Given the description of an element on the screen output the (x, y) to click on. 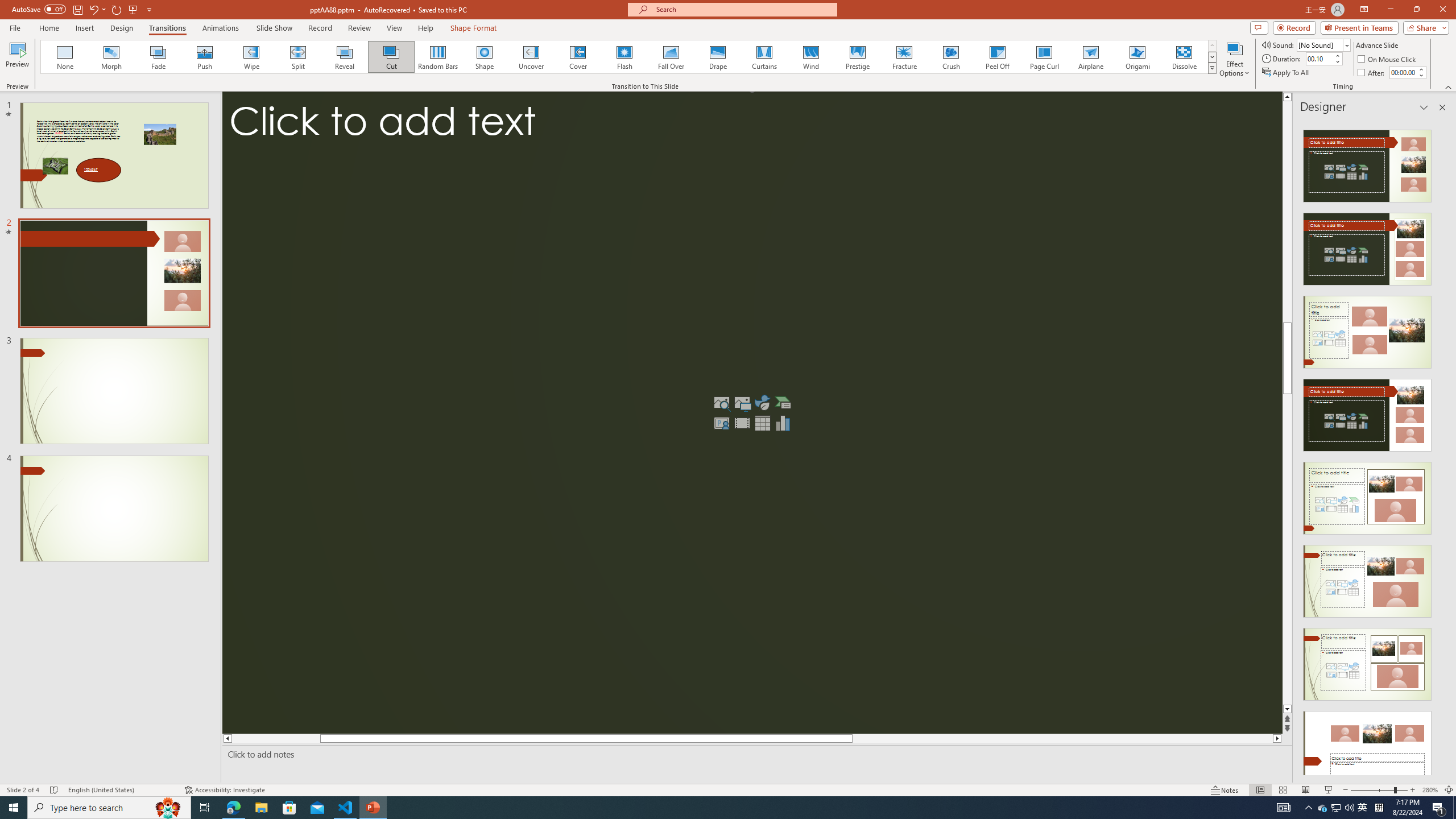
Insert Chart (783, 423)
Apply To All (1286, 72)
Wipe (251, 56)
AutomationID: AnimationTransitionGallery (628, 56)
Transition Effects (1212, 67)
